Given the description of an element on the screen output the (x, y) to click on. 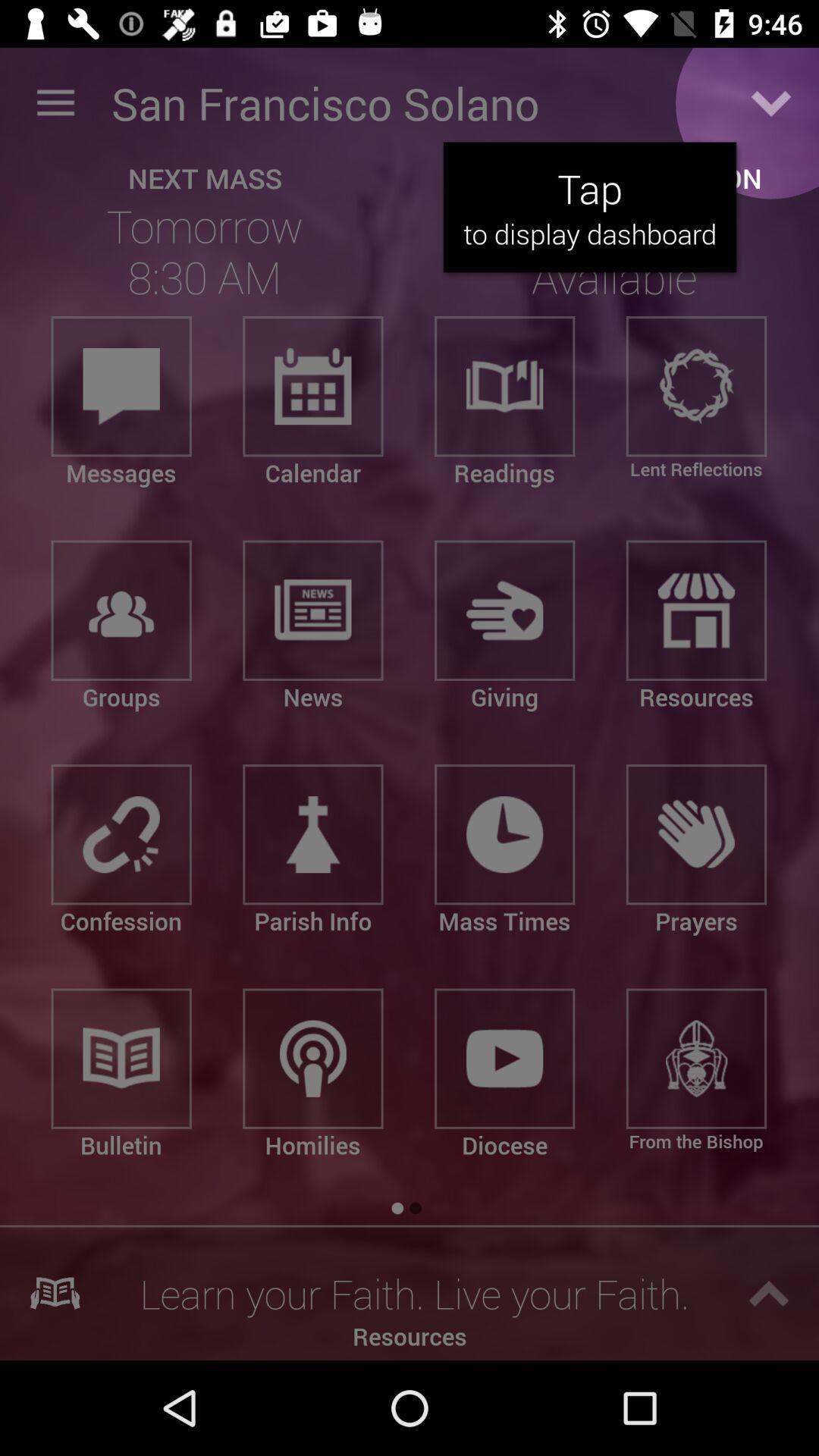
press the icon above the next mass item (55, 103)
